Given the description of an element on the screen output the (x, y) to click on. 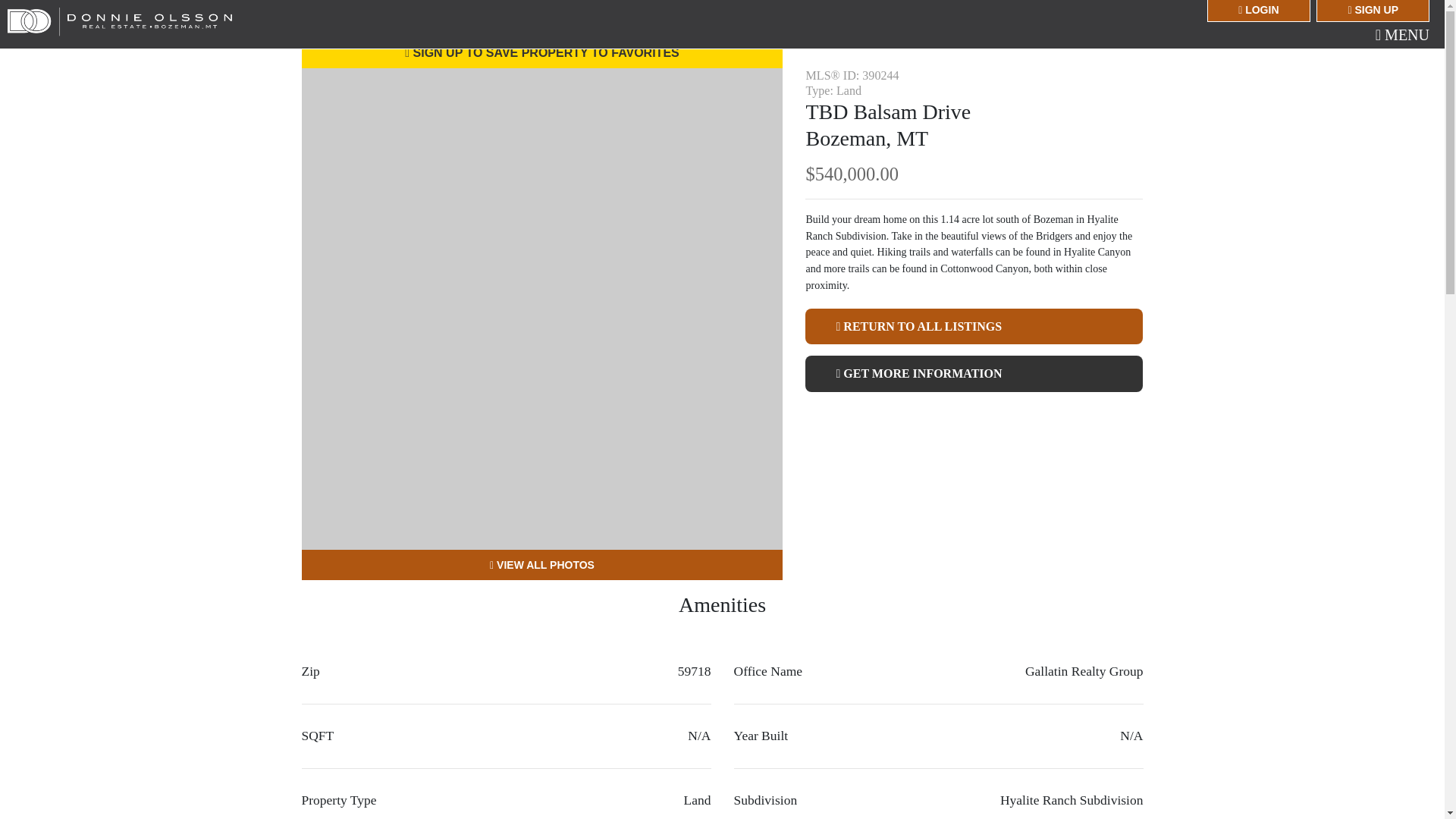
SIGN UP (1372, 11)
SIGN UP TO SAVE PROPERTY TO FAVORITES (542, 52)
RETURN TO ALL LISTINGS (973, 325)
GET MORE INFORMATION (973, 373)
LOGIN (1257, 11)
